Given the description of an element on the screen output the (x, y) to click on. 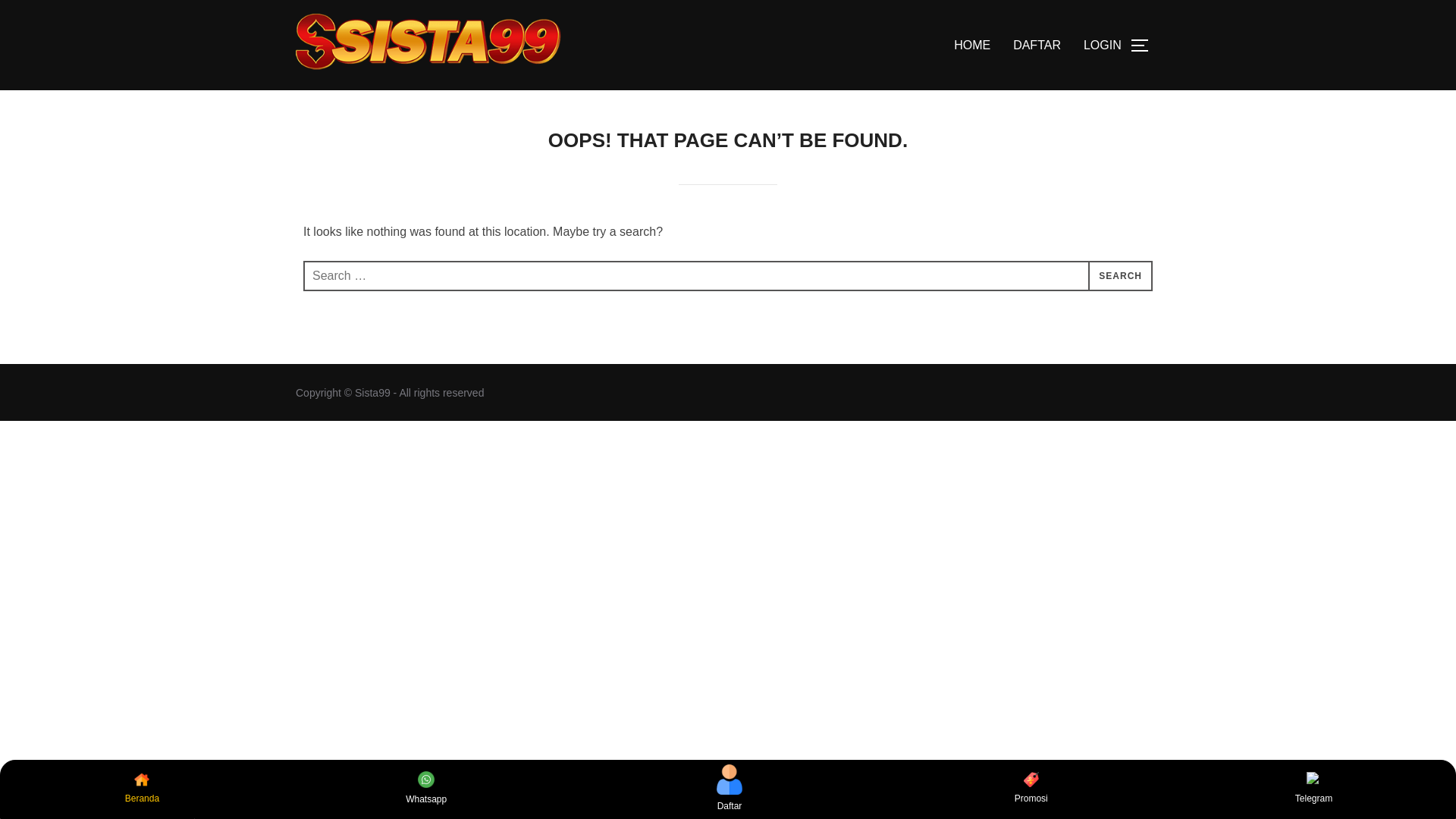
HOME (971, 45)
SEARCH (1120, 276)
LOGIN (1102, 45)
DAFTAR (1037, 45)
